Given the description of an element on the screen output the (x, y) to click on. 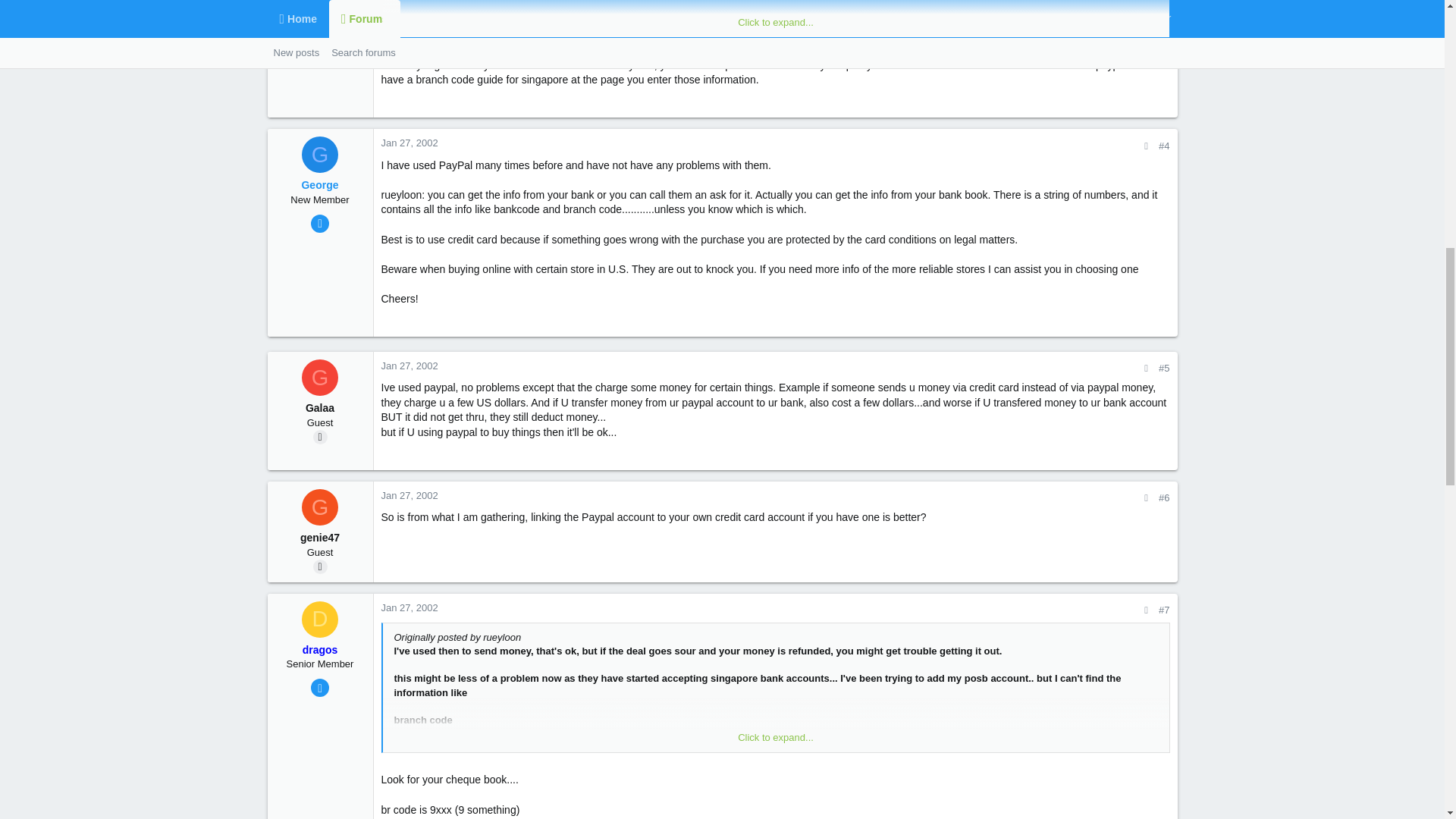
Jan 27, 2002 at 11:32 AM (409, 365)
Jan 27, 2002 at 11:05 AM (409, 142)
Jan 27, 2002 at 11:40 AM (409, 495)
Jan 27, 2002 at 1:33 PM (409, 607)
genie47 (319, 506)
Galaa (319, 377)
